Given the description of an element on the screen output the (x, y) to click on. 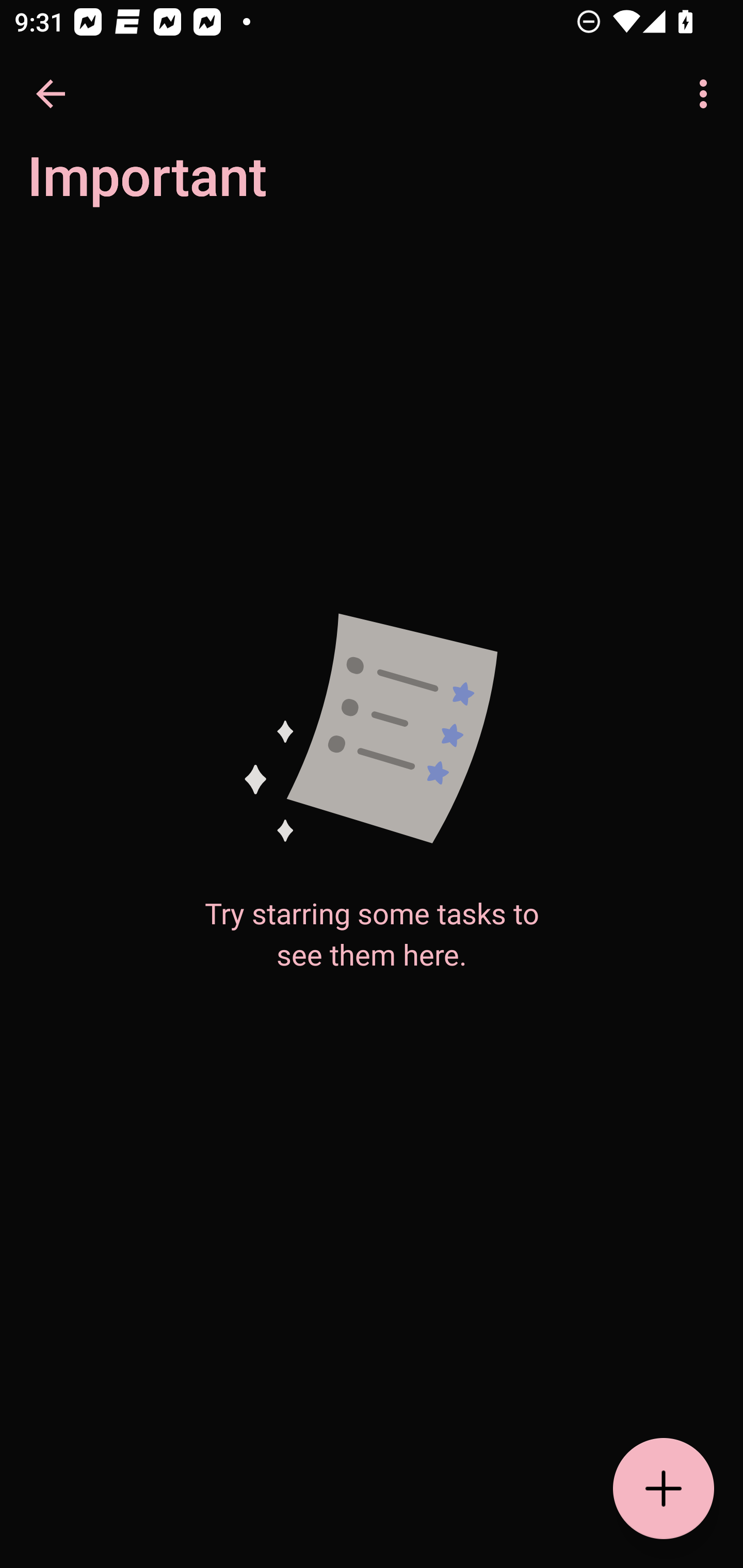
Back (50, 93)
More options (706, 93)
My Day, 0 tasks (182, 187)
Add a task (663, 1488)
